Given the description of an element on the screen output the (x, y) to click on. 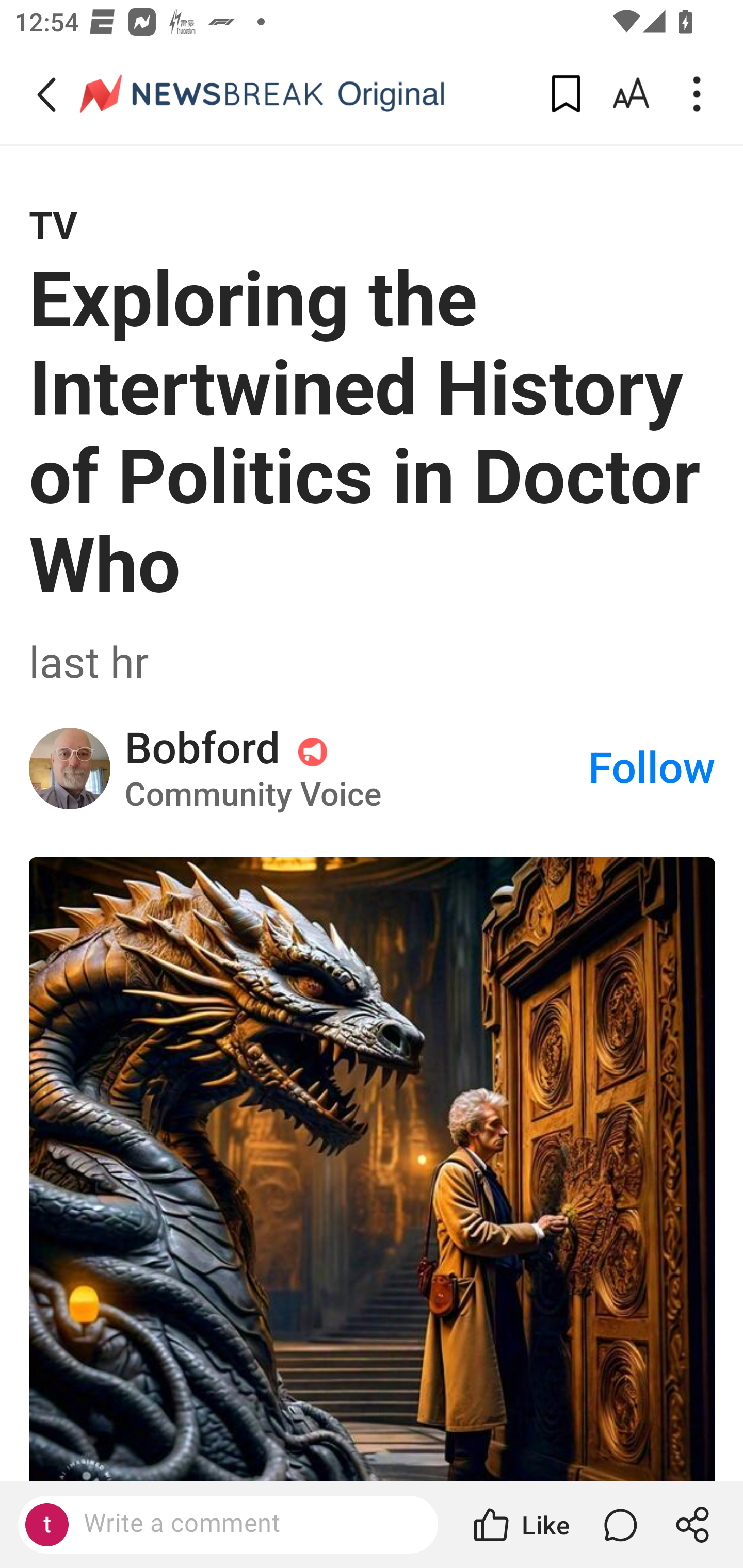
Bobford  Community Voice (355, 767)
Bobford (70, 768)
Follow (651, 767)
Like (519, 1524)
Write a comment (245, 1523)
